Given the description of an element on the screen output the (x, y) to click on. 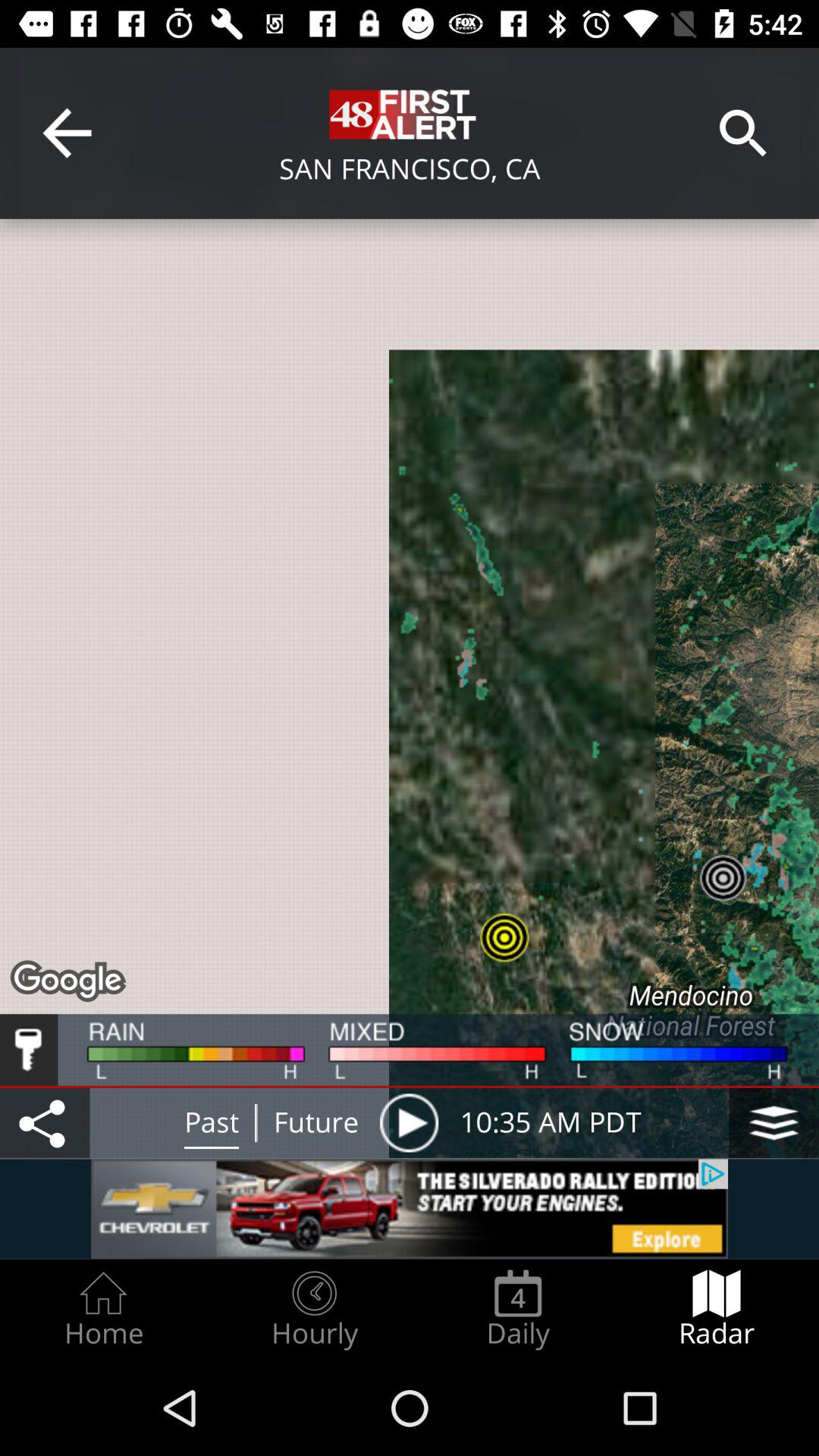
expand button (774, 1122)
